Given the description of an element on the screen output the (x, y) to click on. 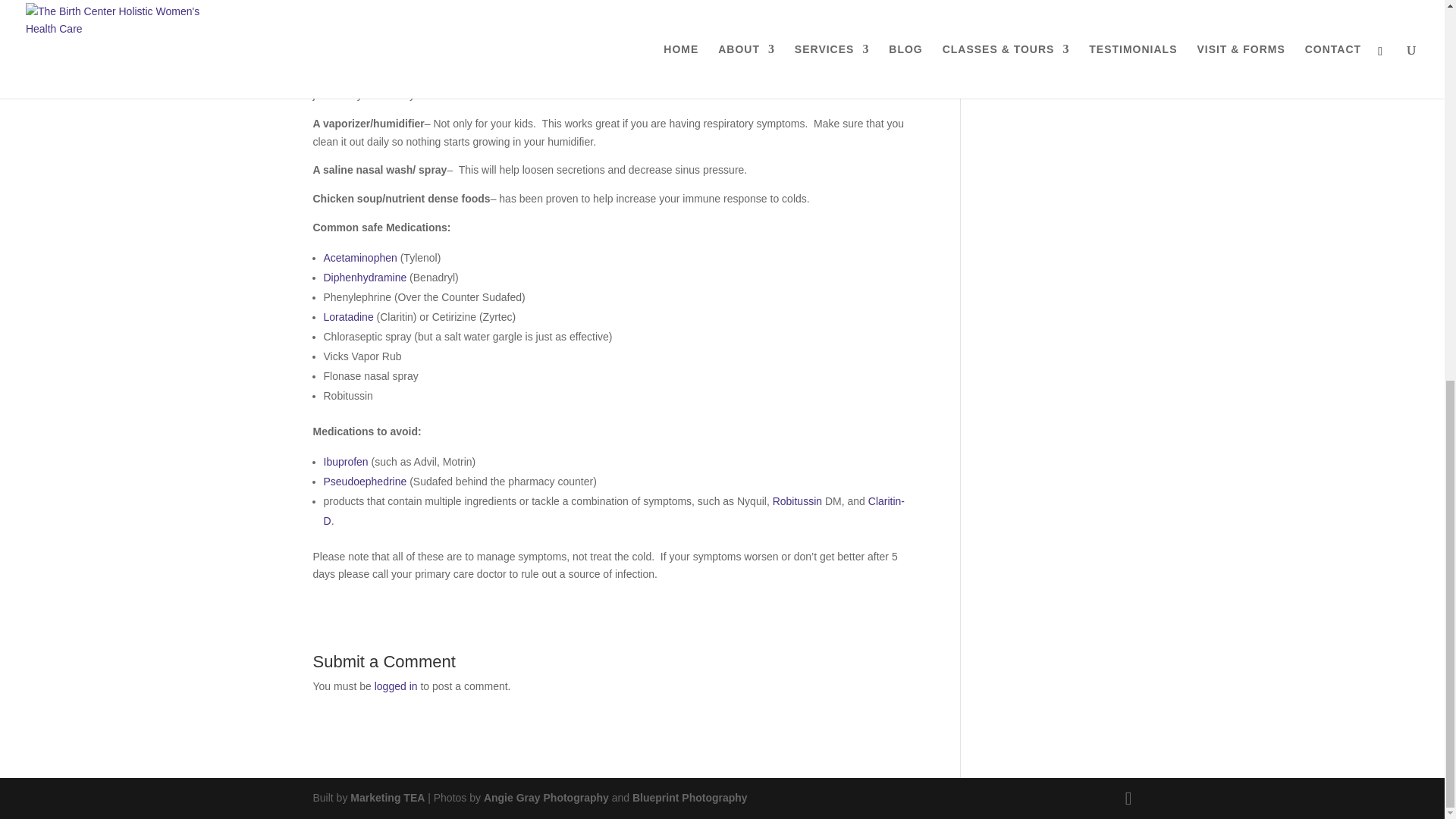
logged in (395, 686)
Robitussin (796, 500)
Blueprint Photography (689, 797)
Loratadine (347, 316)
Acetaminophen (359, 257)
Claritin-D (613, 511)
Diphenhydramine (364, 277)
Marketing TEA (387, 797)
Angie Gray Photography (545, 797)
Ibuprofen (345, 461)
Pseudoephedrine (364, 481)
